Given the description of an element on the screen output the (x, y) to click on. 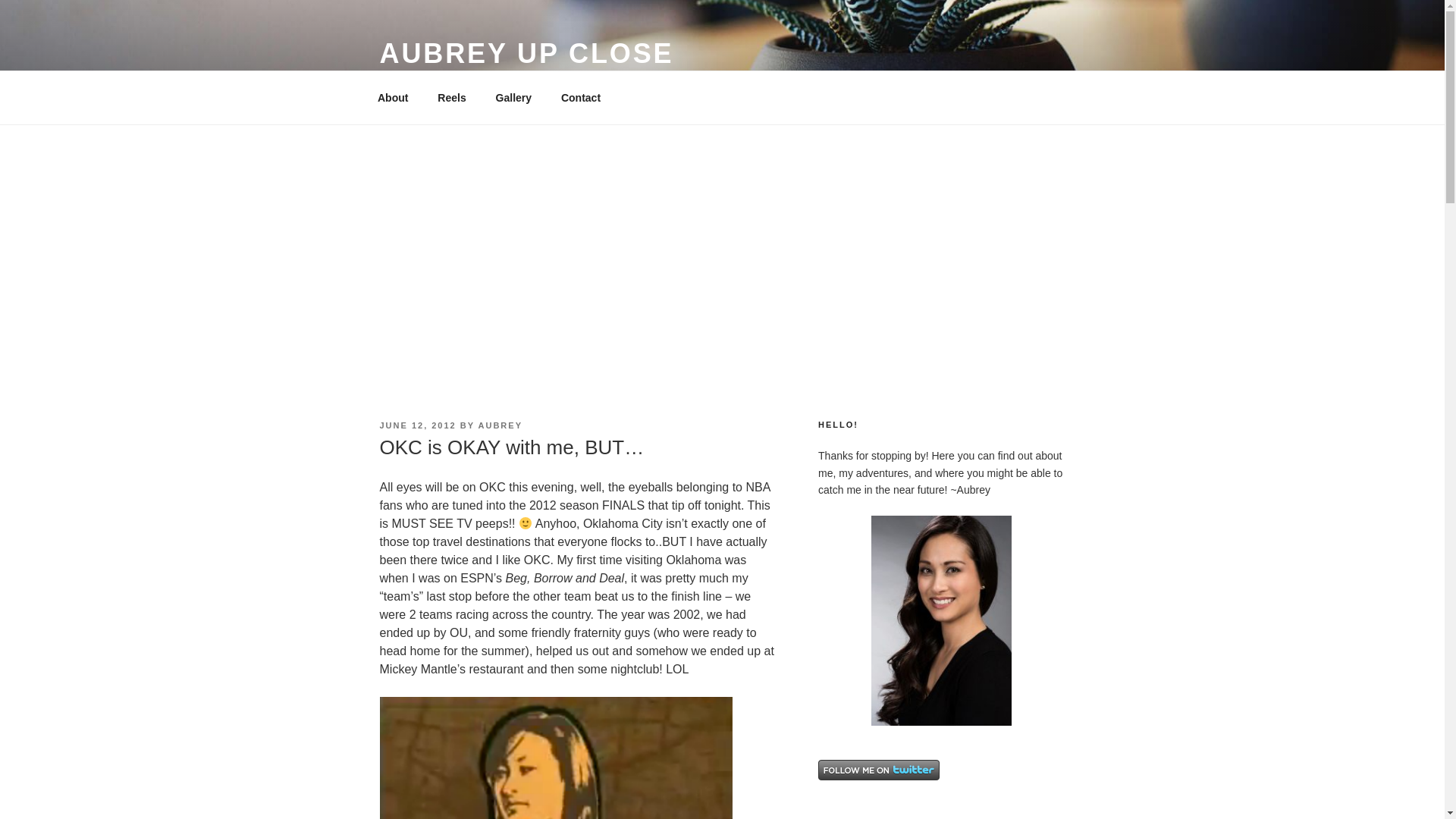
Reels (452, 97)
AUBREY (500, 424)
AUBREY UP CLOSE (525, 52)
Screen shot 2012-06-12 at 11.04.52 AM (555, 757)
About (392, 97)
JUNE 12, 2012 (416, 424)
Contact (579, 97)
Gallery (512, 97)
